Given the description of an element on the screen output the (x, y) to click on. 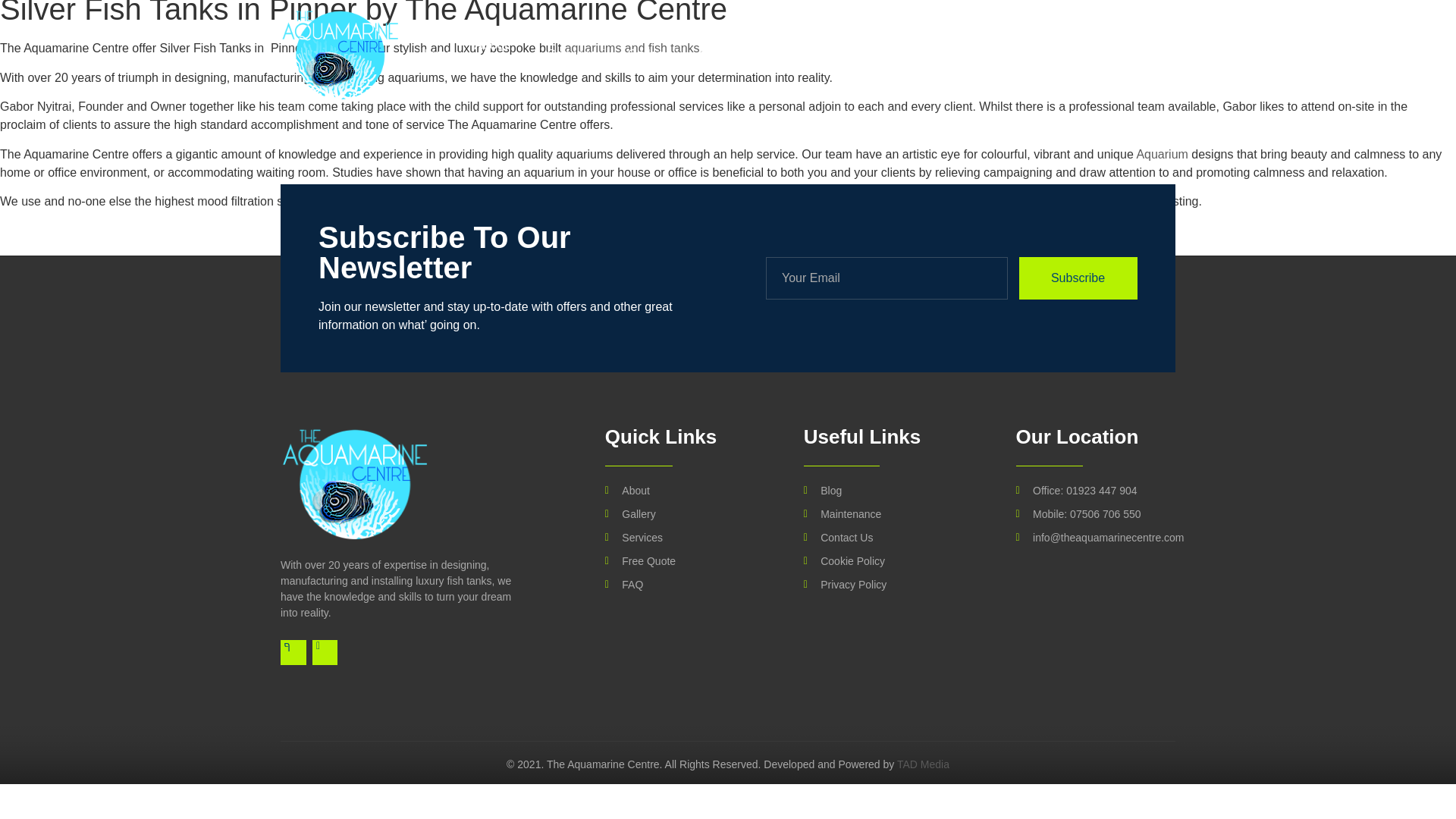
aquariums and fish tanks (632, 47)
Services (689, 537)
Gallery (689, 514)
Aquarium (1161, 154)
About (689, 490)
Free Quote (791, 54)
Meet The Team (893, 54)
Gallery (652, 54)
About Us (499, 54)
Contact Us (1039, 54)
